Given the description of an element on the screen output the (x, y) to click on. 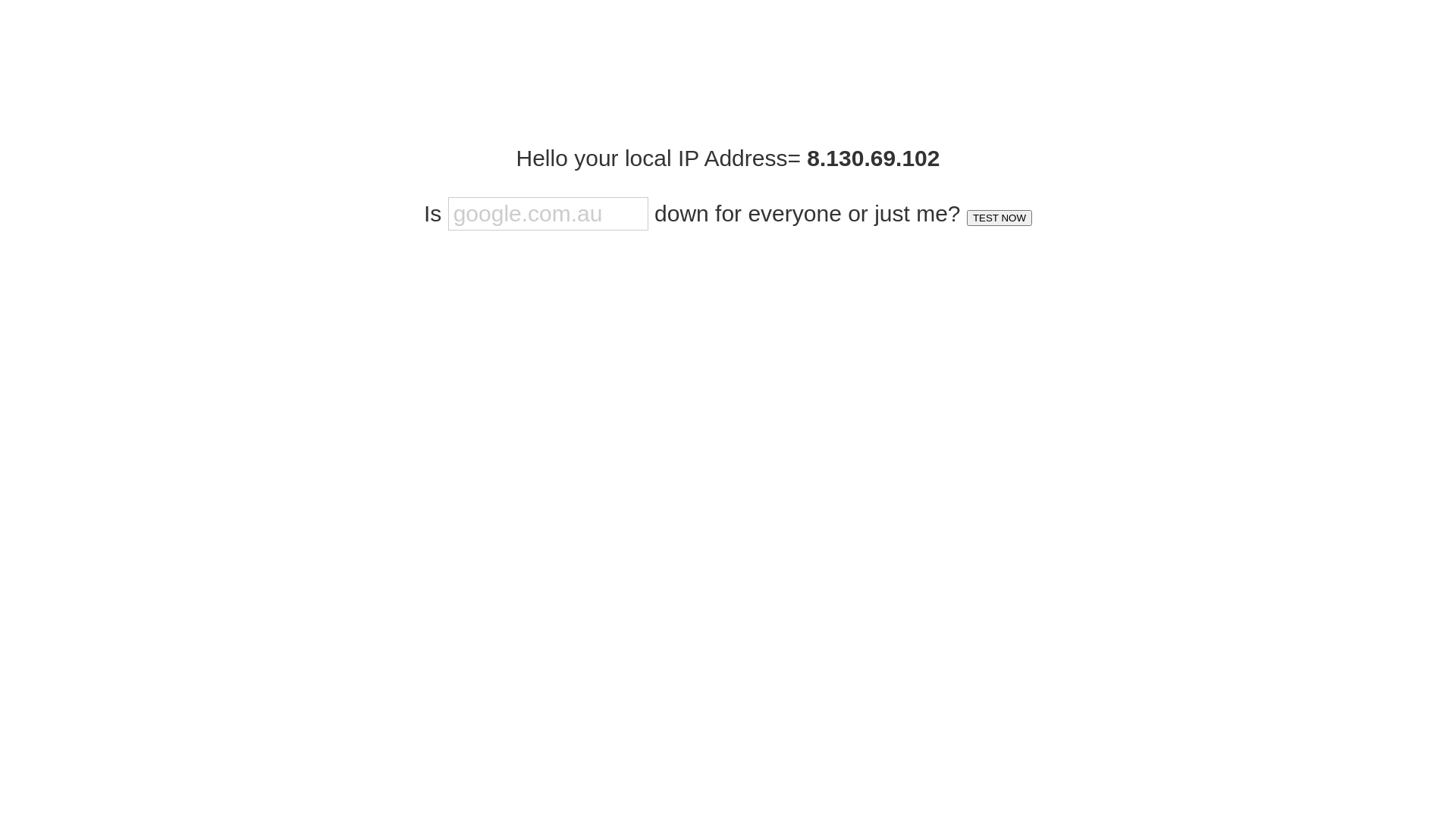
google.com.au Element type: text (548, 213)
TEST NOW Element type: text (999, 217)
